Given the description of an element on the screen output the (x, y) to click on. 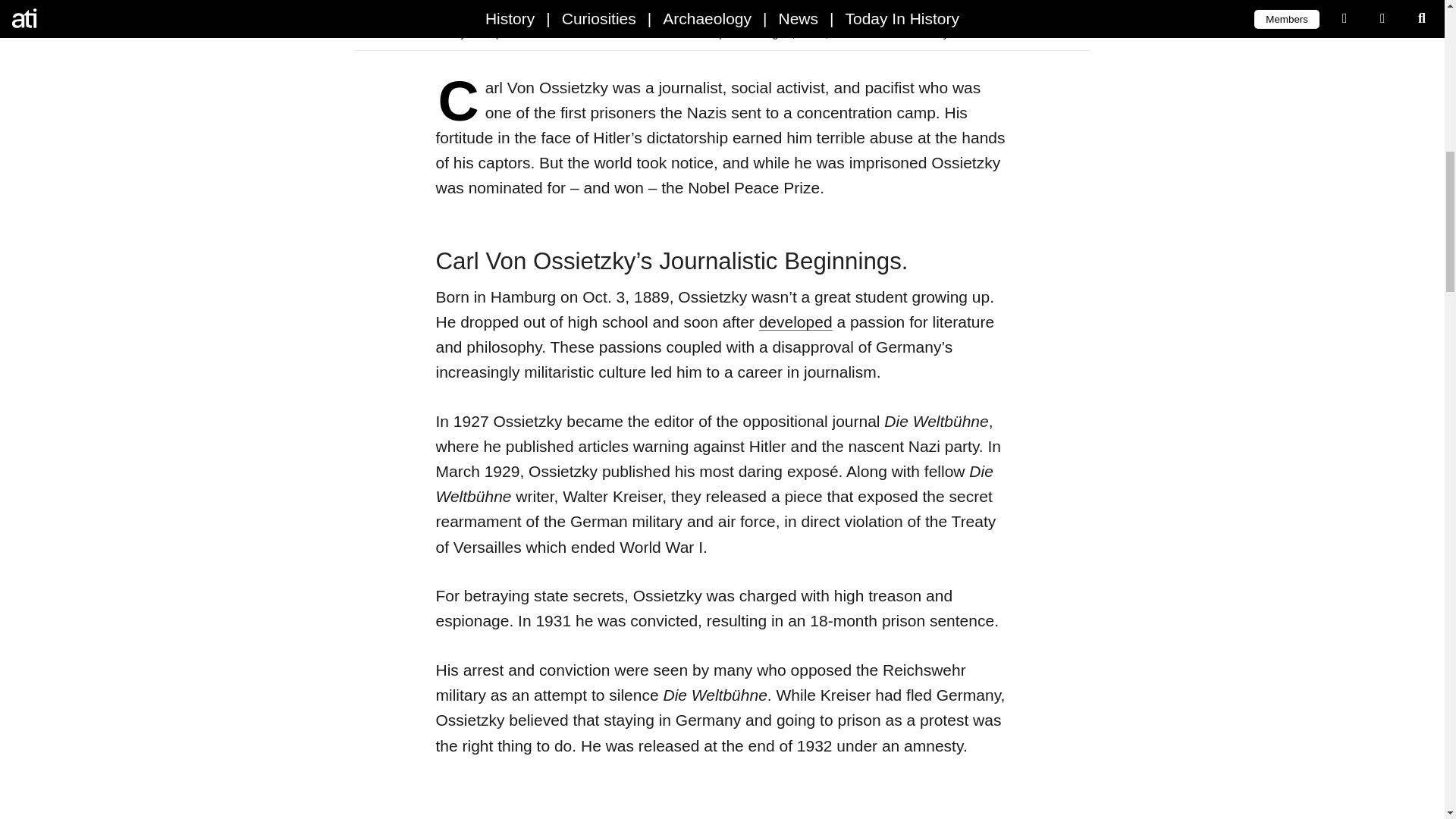
developed (795, 321)
